Given the description of an element on the screen output the (x, y) to click on. 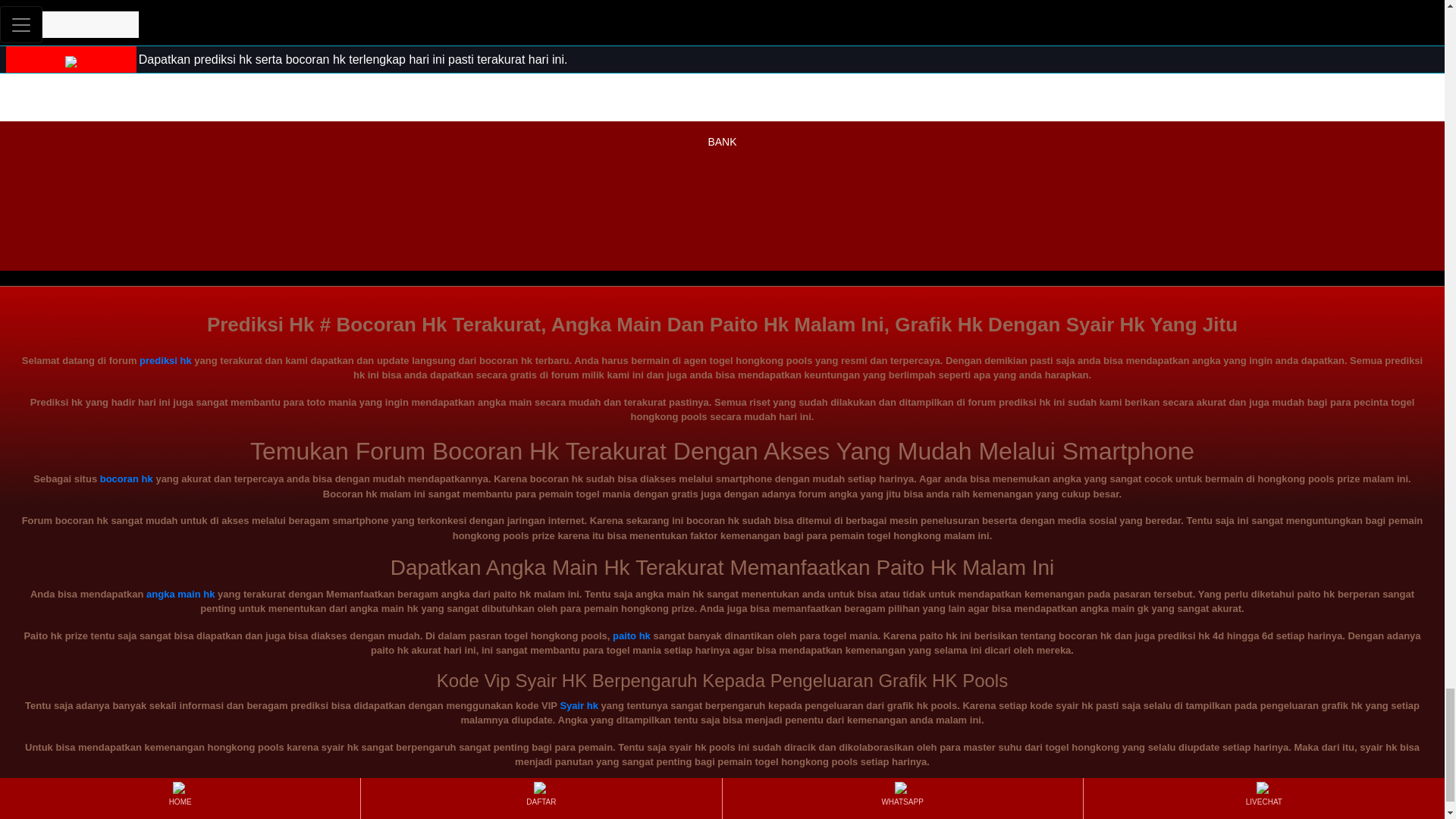
angka main hk (180, 593)
prediksi hk (165, 360)
Syair hk (578, 705)
bocoran hk (126, 478)
paito hk (631, 635)
